Given the description of an element on the screen output the (x, y) to click on. 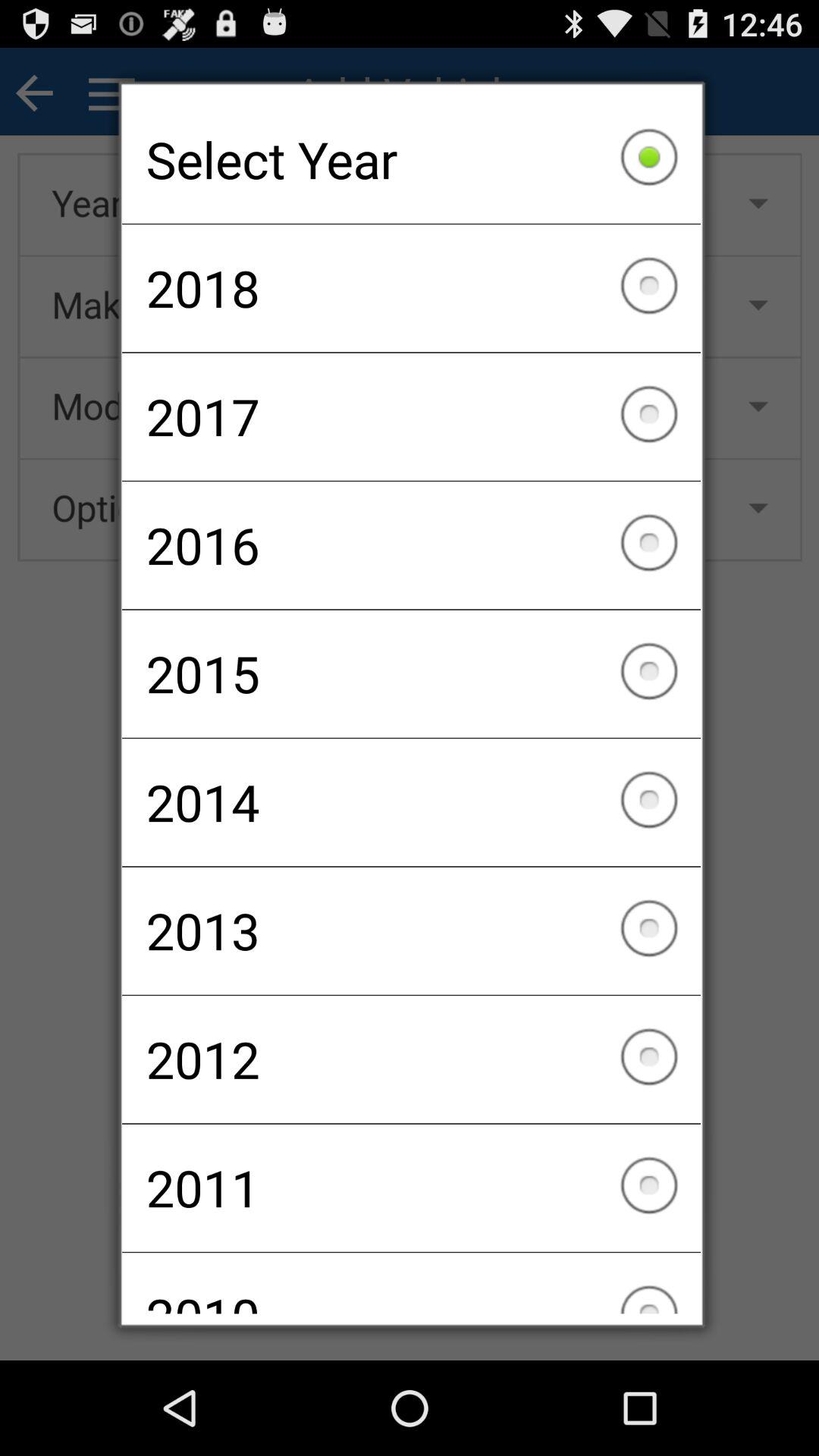
choose 2014 icon (411, 802)
